Given the description of an element on the screen output the (x, y) to click on. 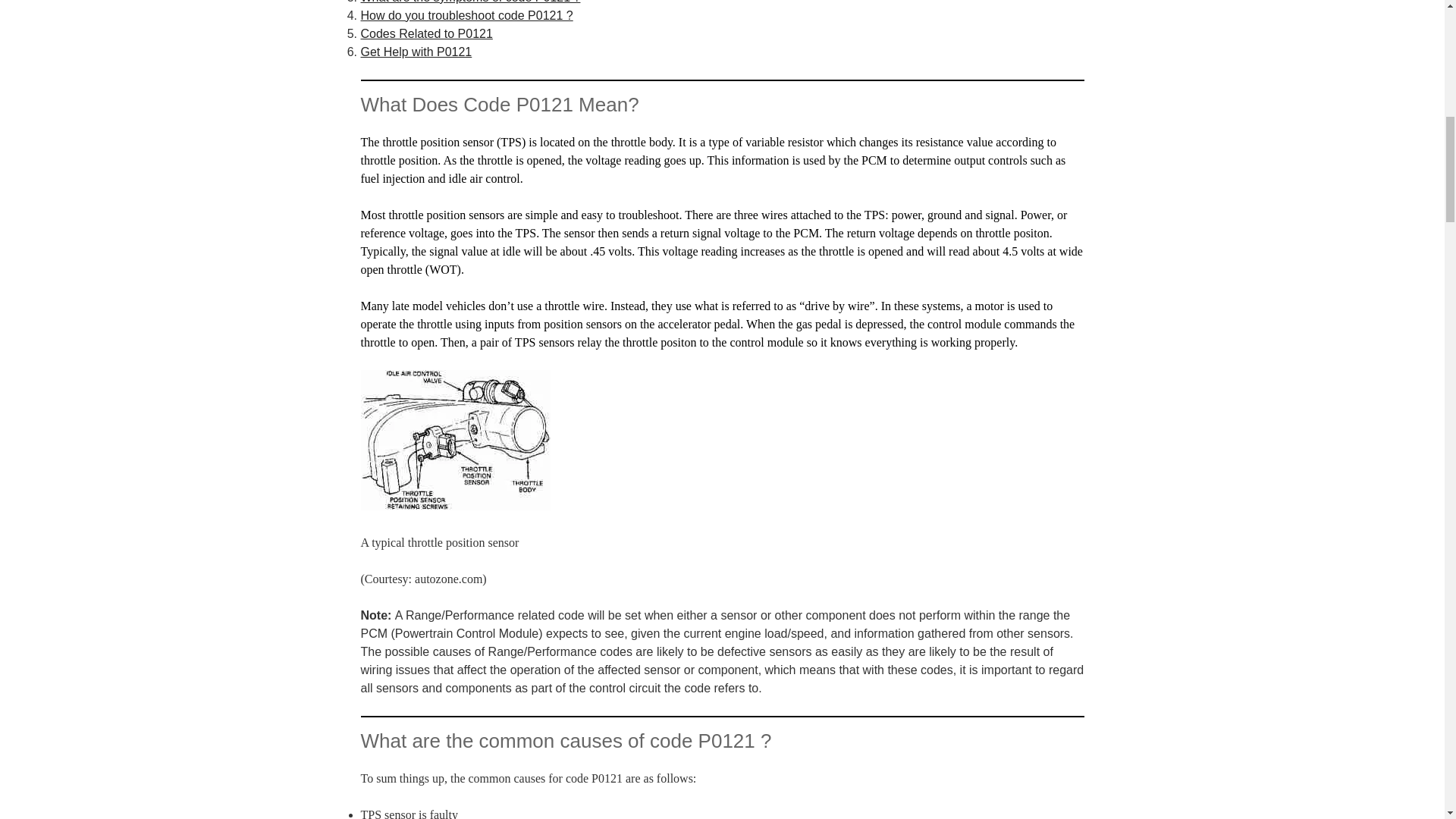
How do you troubleshoot code P0121 ? (467, 15)
Get Help with P0121 (416, 51)
Codes Related to P0121 (427, 33)
What are the symptoms of code P0121 ? (470, 2)
